Given the description of an element on the screen output the (x, y) to click on. 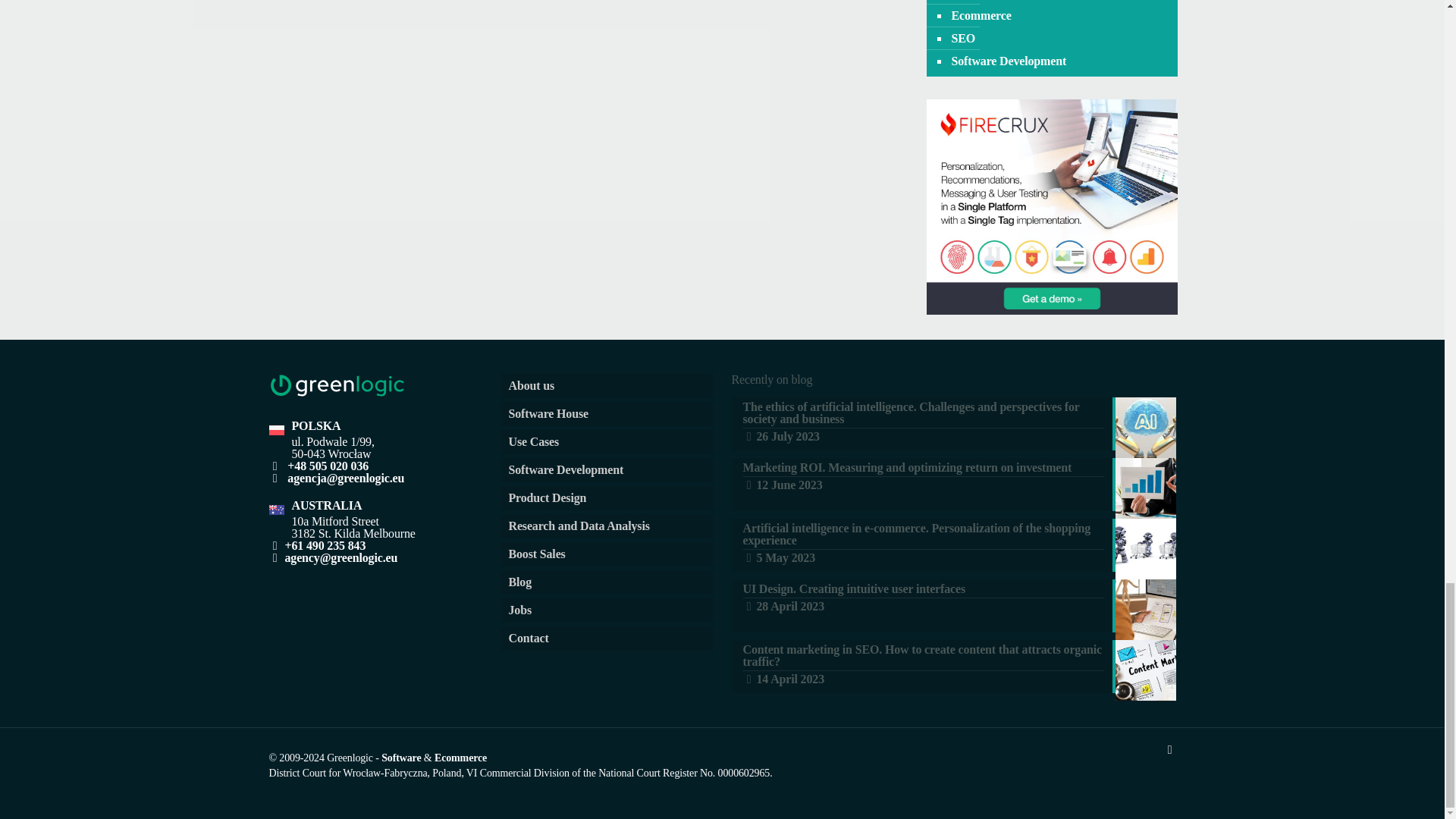
Ecommerce (459, 757)
Ecommerce (980, 15)
Firecrux - AI Engine (1051, 309)
Artificial Intelligence (1004, 2)
SEO (962, 38)
Software (400, 757)
